Given the description of an element on the screen output the (x, y) to click on. 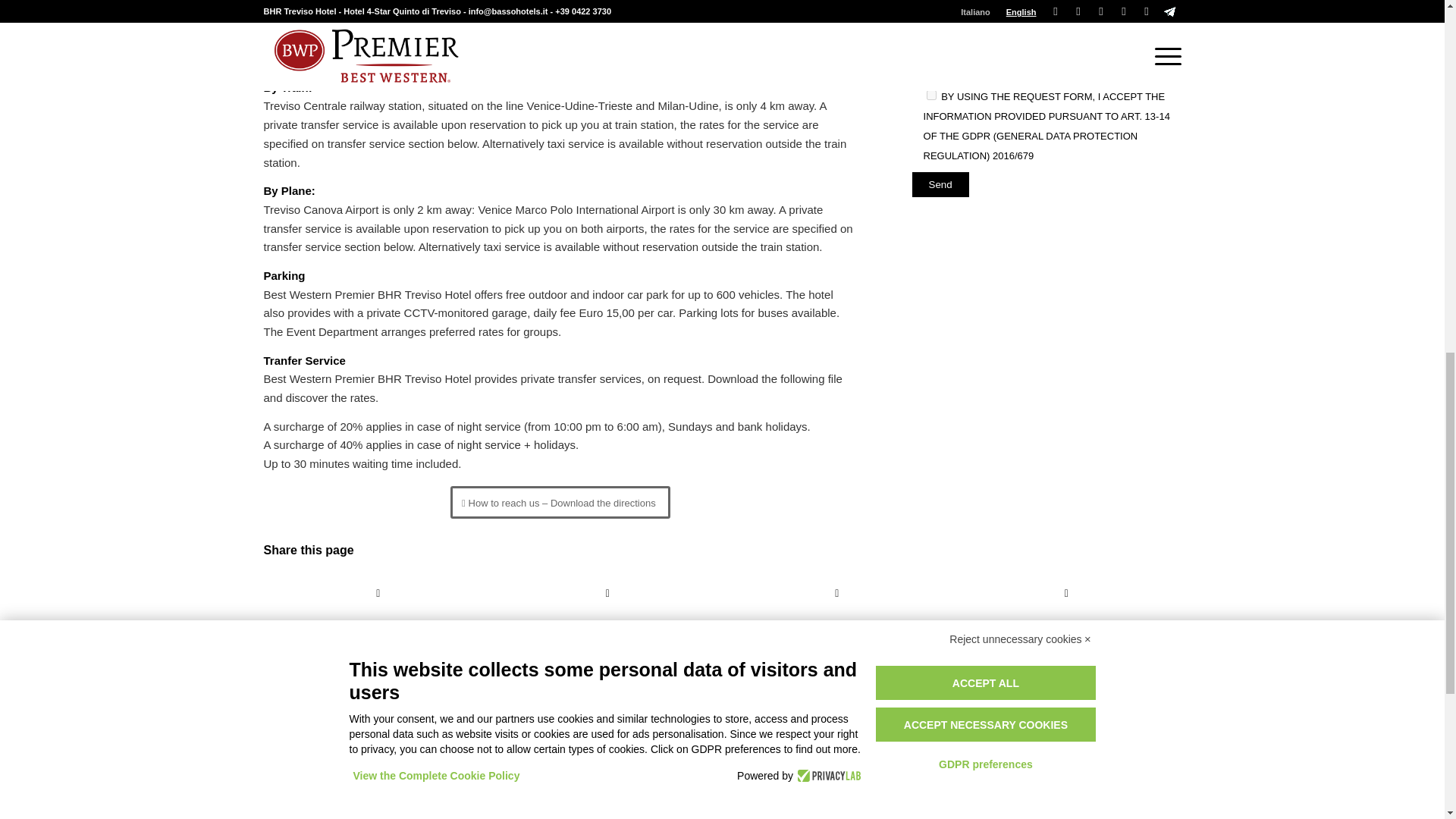
1 (931, 94)
Send (940, 184)
